Given the description of an element on the screen output the (x, y) to click on. 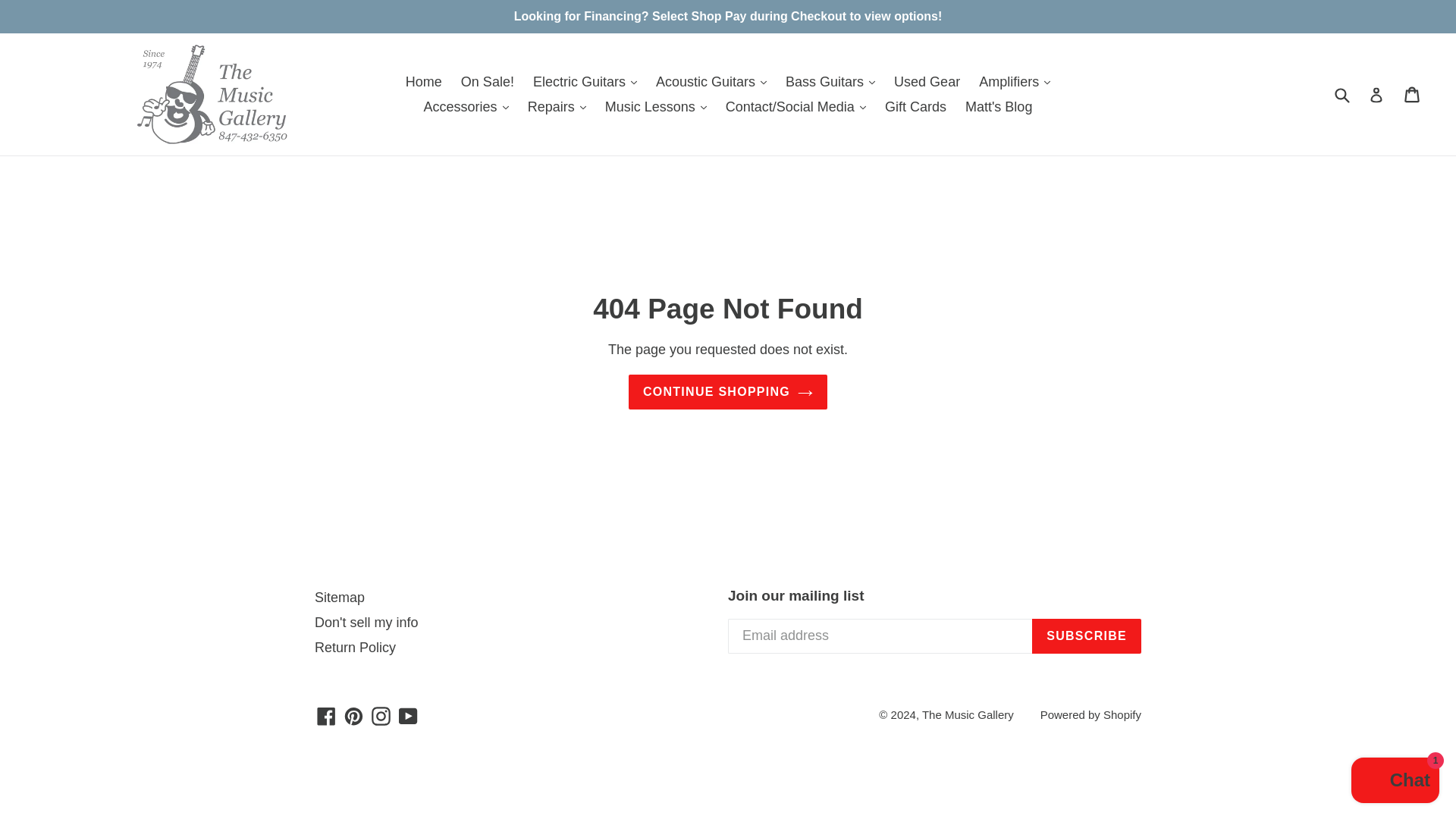
The Music Gallery on Instagram (381, 715)
The Music Gallery on YouTube (408, 715)
The Music Gallery on Pinterest (353, 715)
The Music Gallery on Facebook (325, 715)
